Given the description of an element on the screen output the (x, y) to click on. 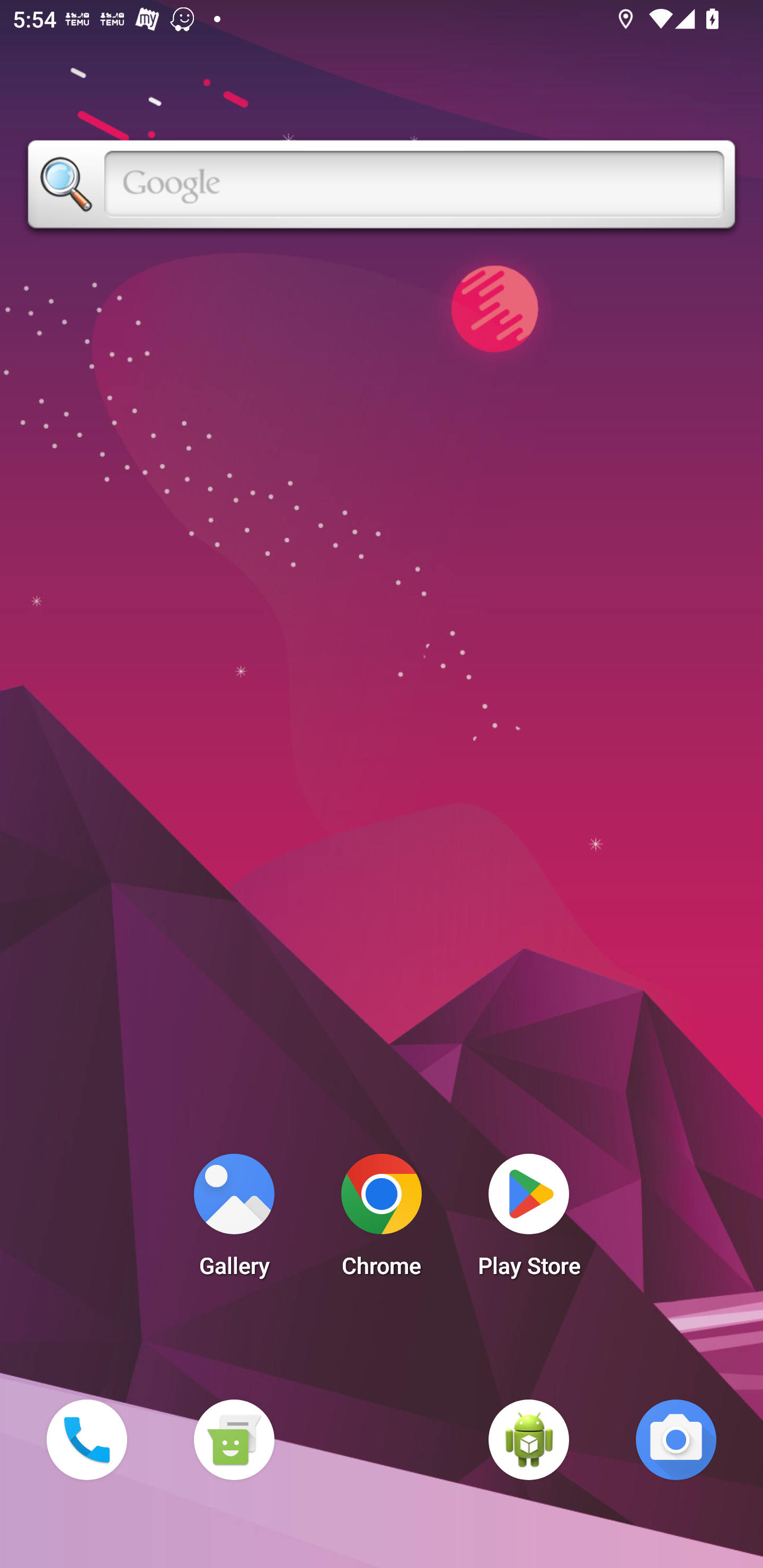
Gallery (233, 1220)
Chrome (381, 1220)
Play Store (528, 1220)
Phone (86, 1439)
Messaging (233, 1439)
WebView Browser Tester (528, 1439)
Camera (676, 1439)
